Given the description of an element on the screen output the (x, y) to click on. 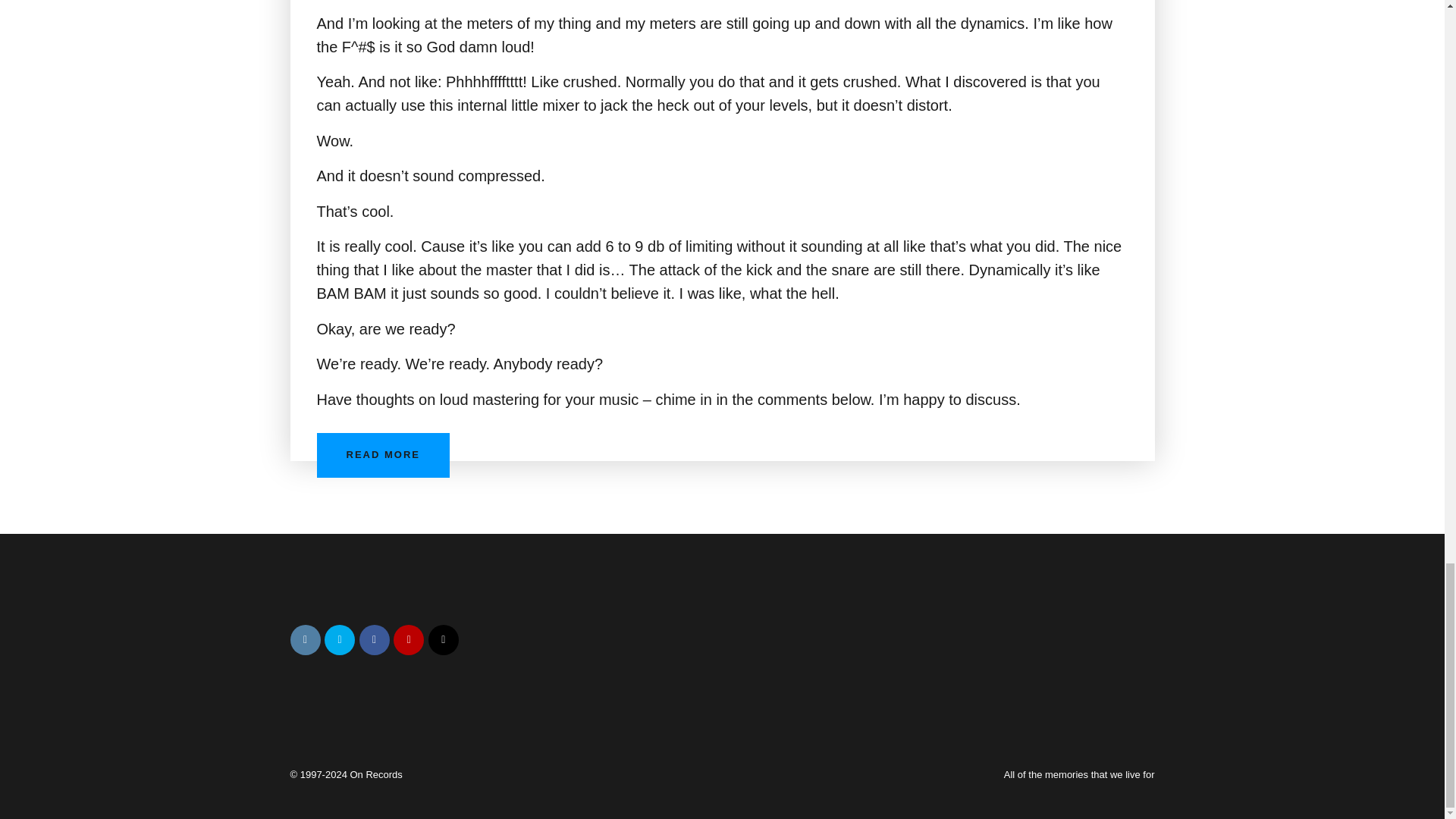
READ MORE (383, 455)
